Given the description of an element on the screen output the (x, y) to click on. 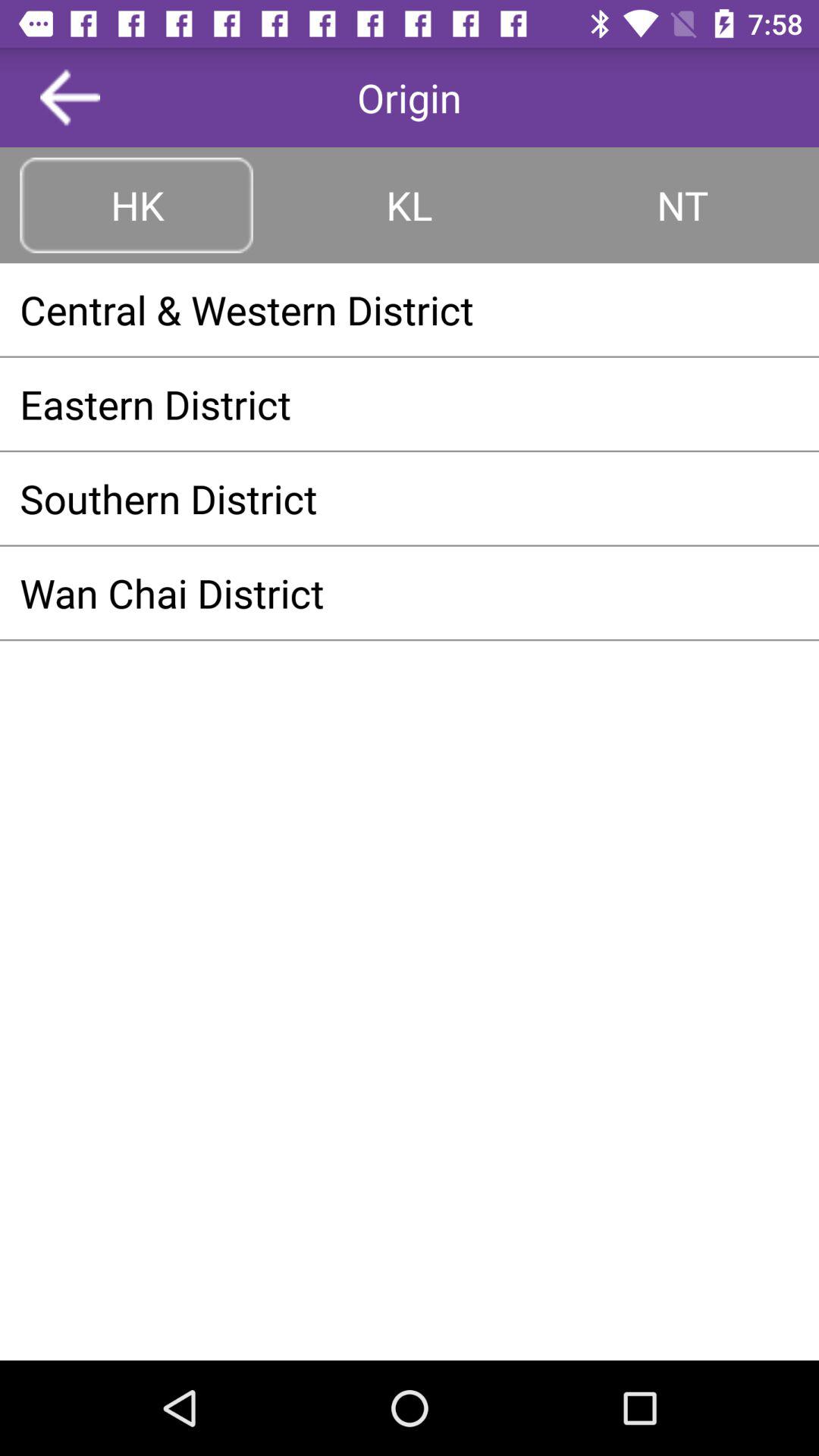
click icon above the central & western district item (136, 205)
